Given the description of an element on the screen output the (x, y) to click on. 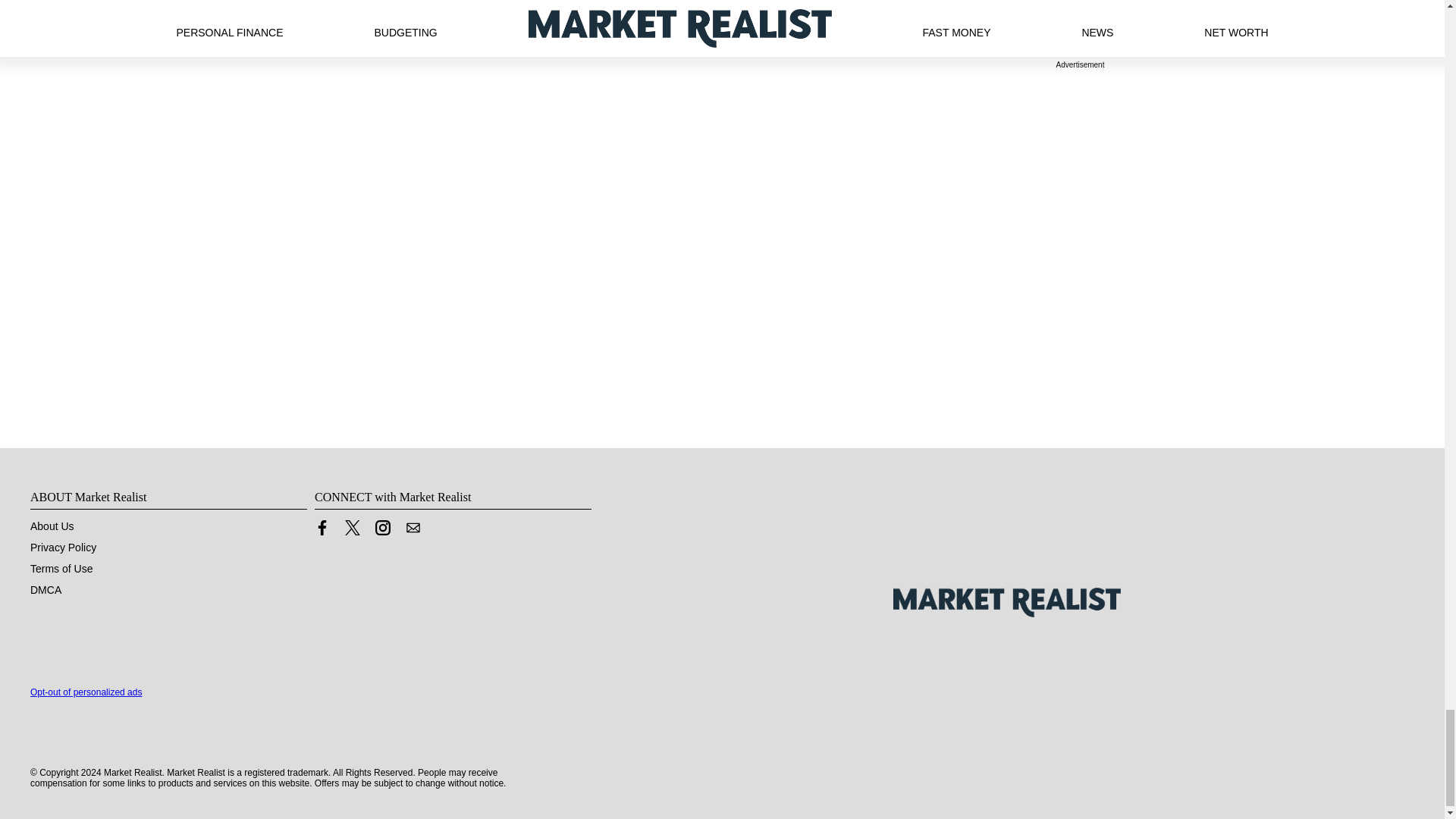
Link to X (352, 527)
Opt-out of personalized ads (85, 692)
Terms of Use (61, 568)
Link to Instagram (382, 531)
Link to X (352, 531)
Privacy Policy (63, 547)
Link to Instagram (382, 527)
About Us (52, 526)
Contact us by Email (413, 531)
About Us (52, 526)
DMCA (45, 589)
Contact us by Email (413, 527)
Link to Facebook (322, 527)
Link to Facebook (322, 531)
Privacy Policy (63, 547)
